Given the description of an element on the screen output the (x, y) to click on. 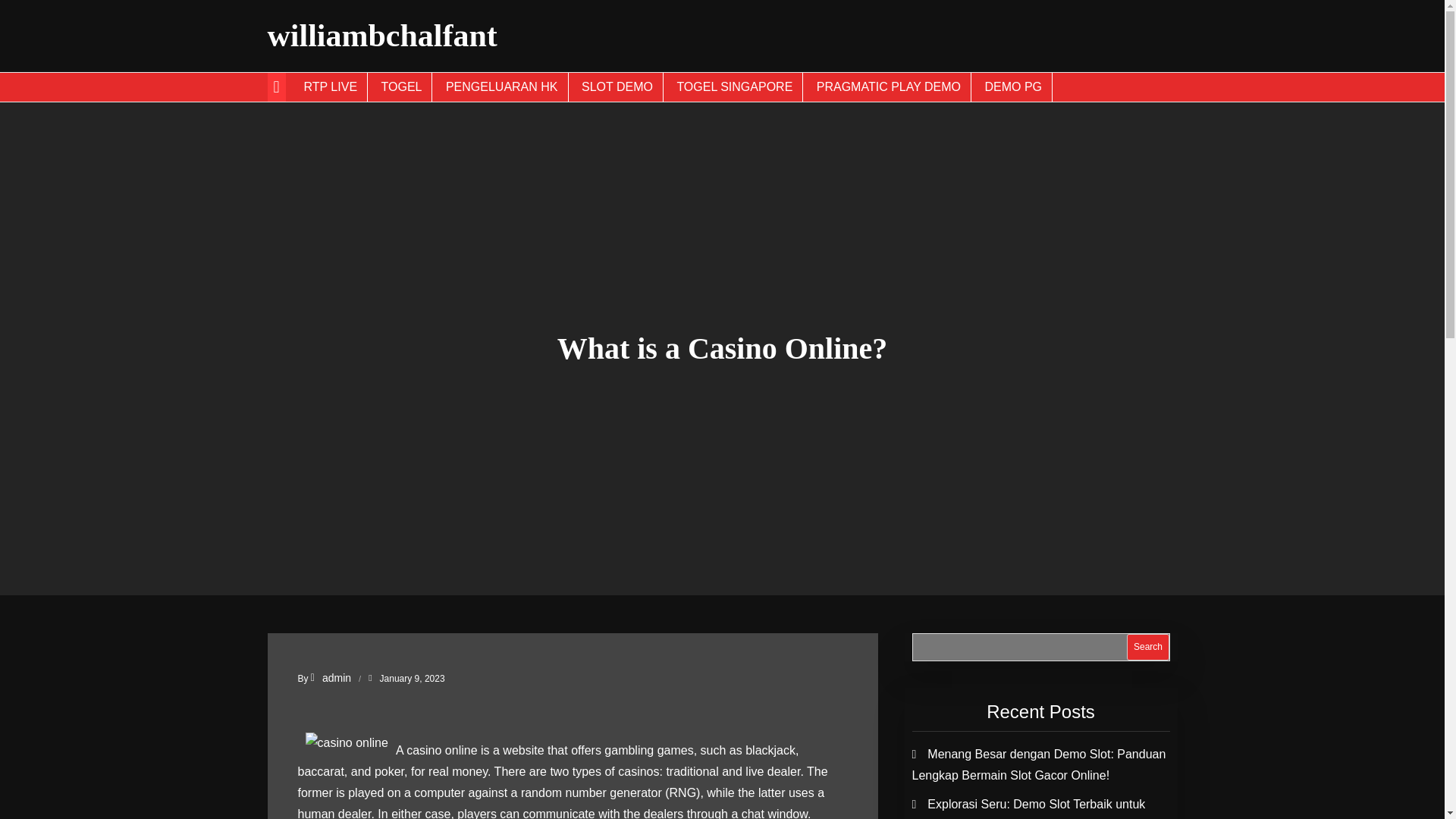
admin (330, 677)
williambchalfant (381, 35)
PENGELUARAN HK (502, 86)
Search (1147, 646)
SLOT DEMO (617, 86)
TOGEL SINGAPORE (734, 86)
RTP LIVE (331, 86)
TOGEL (401, 86)
DEMO PG (1013, 86)
PRAGMATIC PLAY DEMO (888, 86)
